Given the description of an element on the screen output the (x, y) to click on. 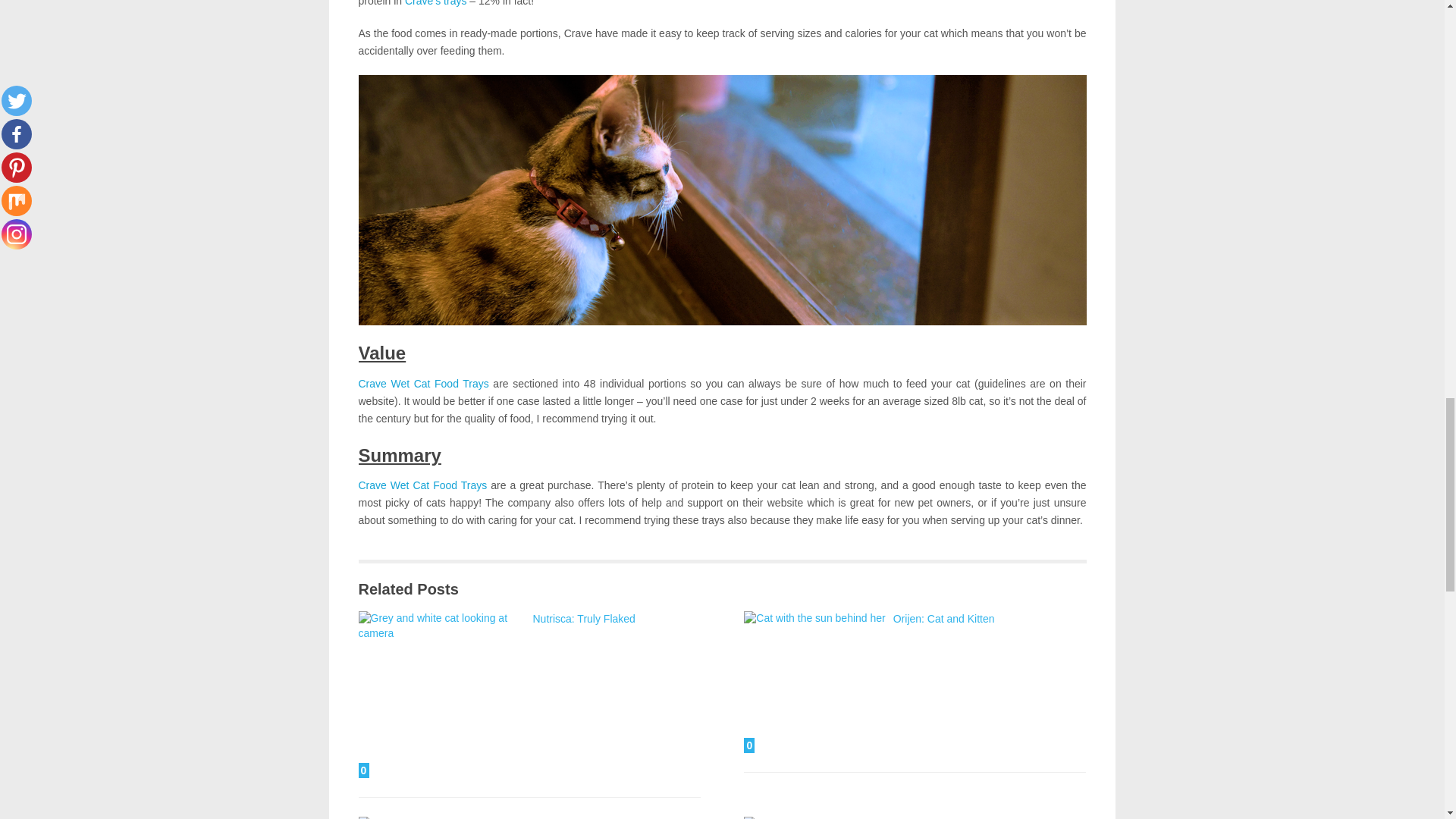
Orijen: Cat and Kitten (943, 618)
Nutrisca: Truly Flaked (583, 618)
0 (814, 681)
Orijen: Cat and Kitten (943, 618)
0 (441, 694)
Nutrisca: Truly Flaked (441, 694)
Nutrisca: Truly Flaked (583, 618)
Crave Wet Cat Food Trays (422, 383)
Crave Wet Cat Food Trays (422, 485)
Orijen: Cat and Kitten (814, 681)
0 (411, 817)
Merrick: Before Grain (411, 817)
